Given the description of an element on the screen output the (x, y) to click on. 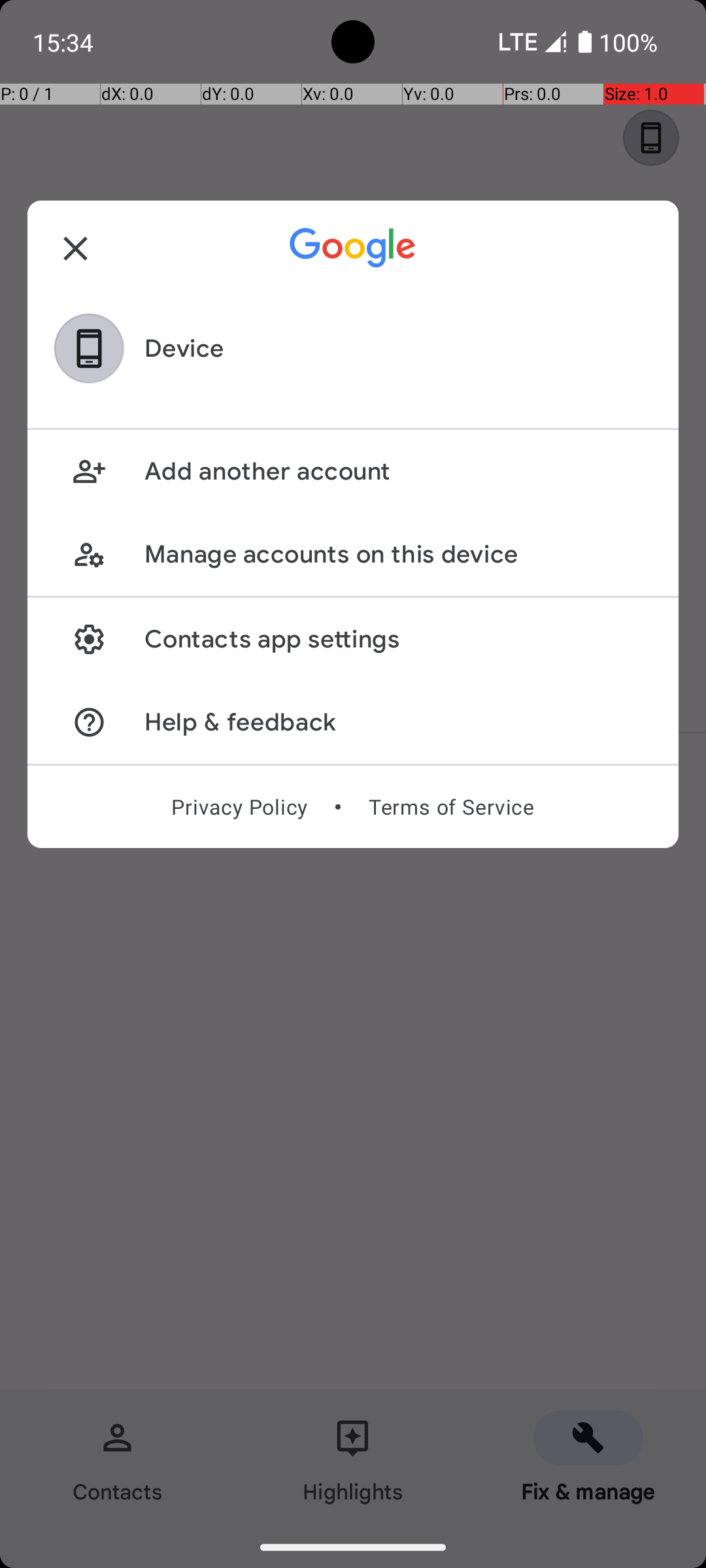
Privacy Policy Element type: android.widget.Button (239, 806)
Terms of Service Element type: android.widget.Button (450, 806)
Add another account Element type: android.widget.TextView (397, 471)
Manage accounts on this device Element type: android.widget.TextView (397, 554)
Contacts app settings Element type: android.widget.TextView (397, 638)
